Given the description of an element on the screen output the (x, y) to click on. 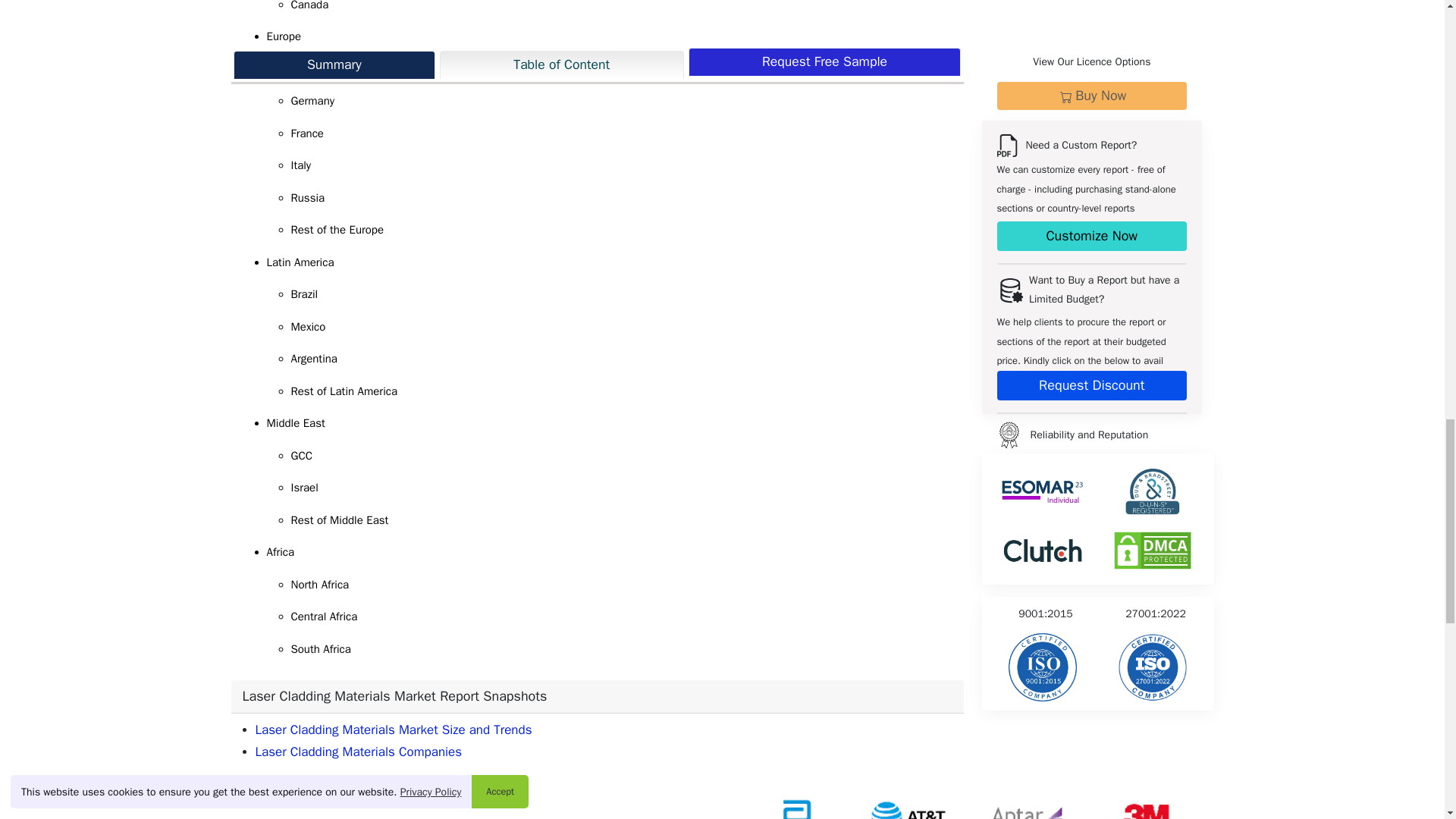
Laser Cladding Materials Market Market Size and Trends (392, 729)
Laser Cladding Materials Market Companies (357, 751)
trusted clients logos (971, 796)
